Given the description of an element on the screen output the (x, y) to click on. 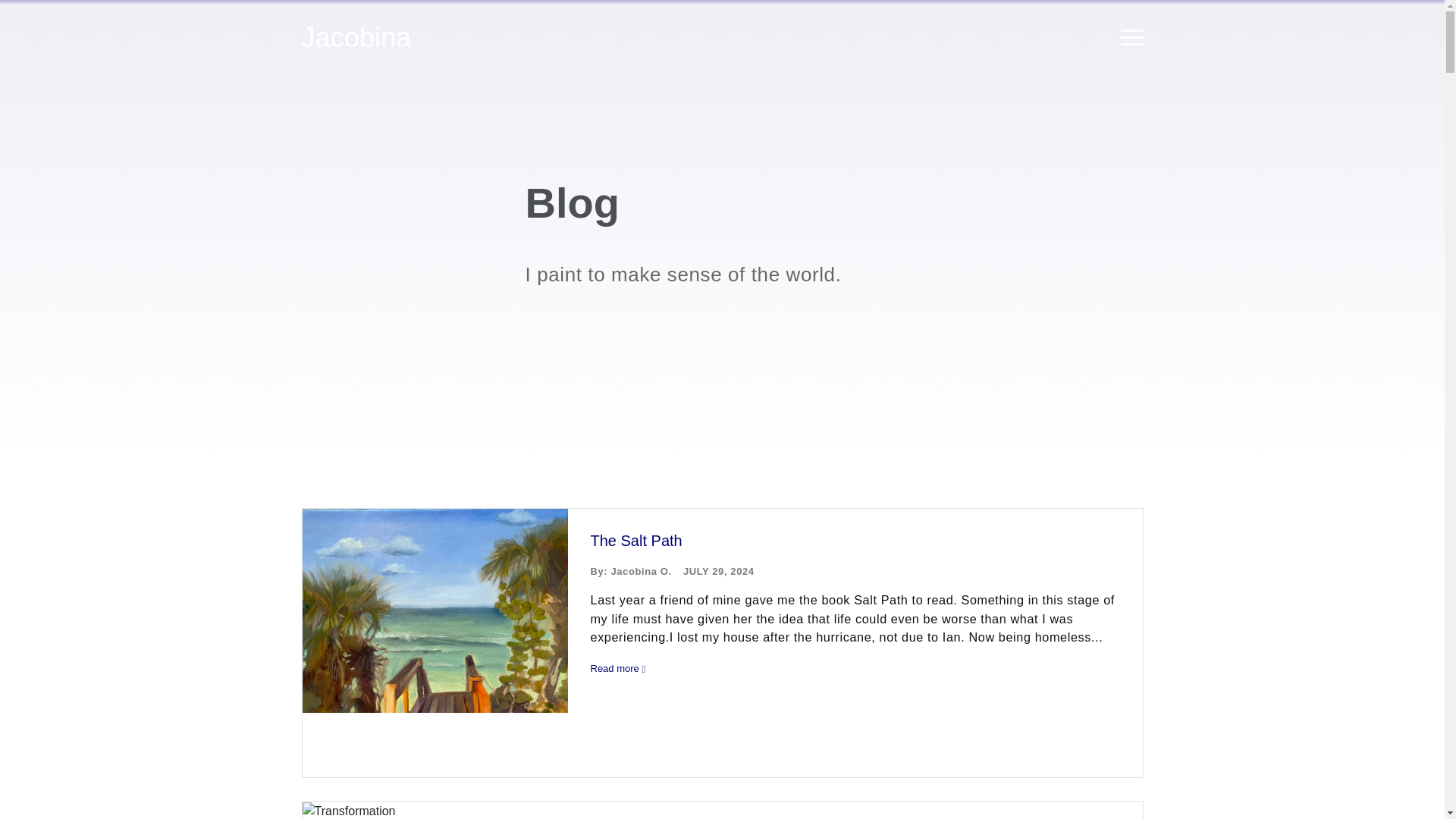
Jacobina (356, 37)
JULY 29, 2024 (718, 571)
By: Jacobina O. (630, 571)
Read more (857, 668)
